Given the description of an element on the screen output the (x, y) to click on. 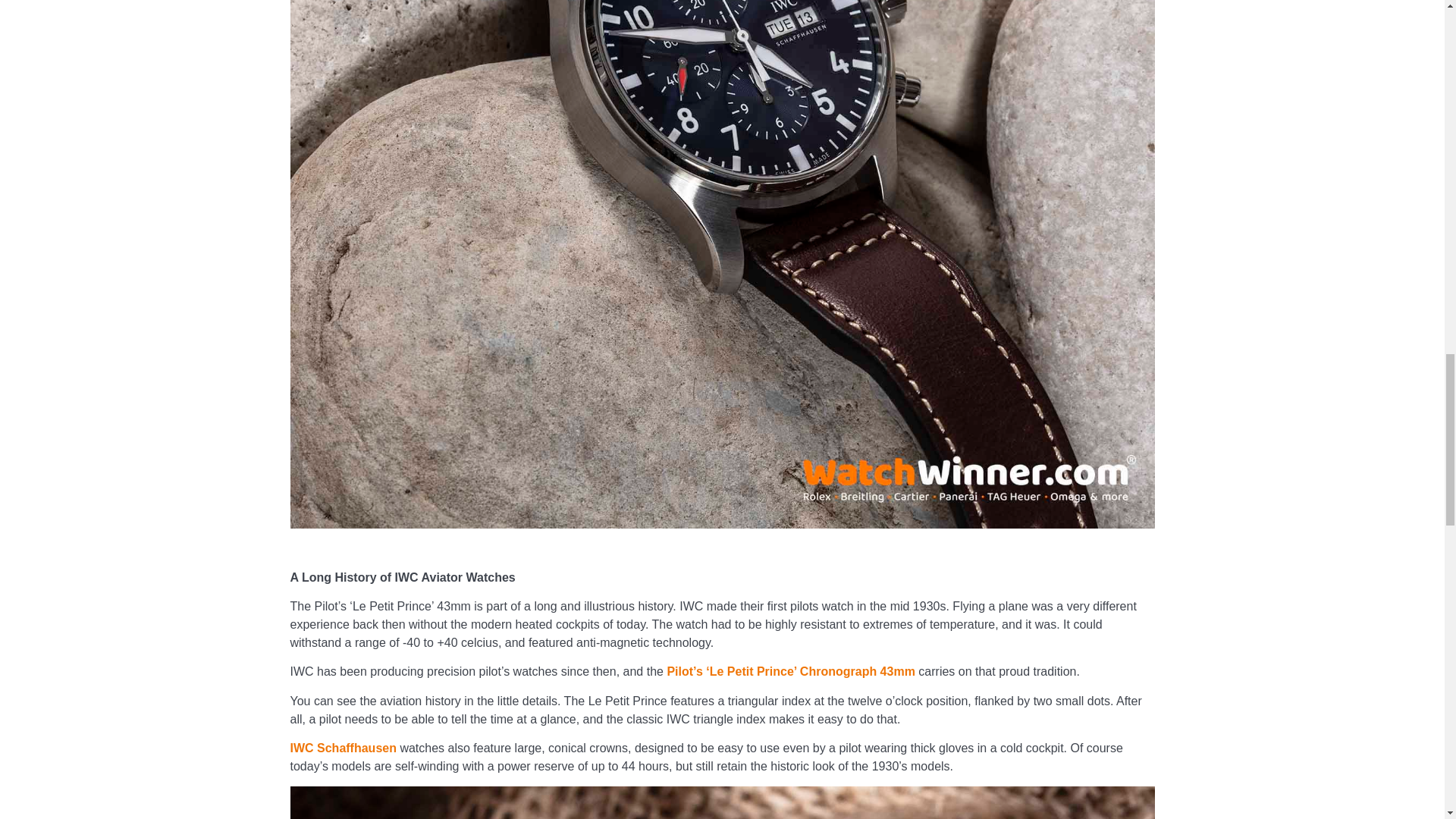
IWC Schaffhausen (342, 748)
